Given the description of an element on the screen output the (x, y) to click on. 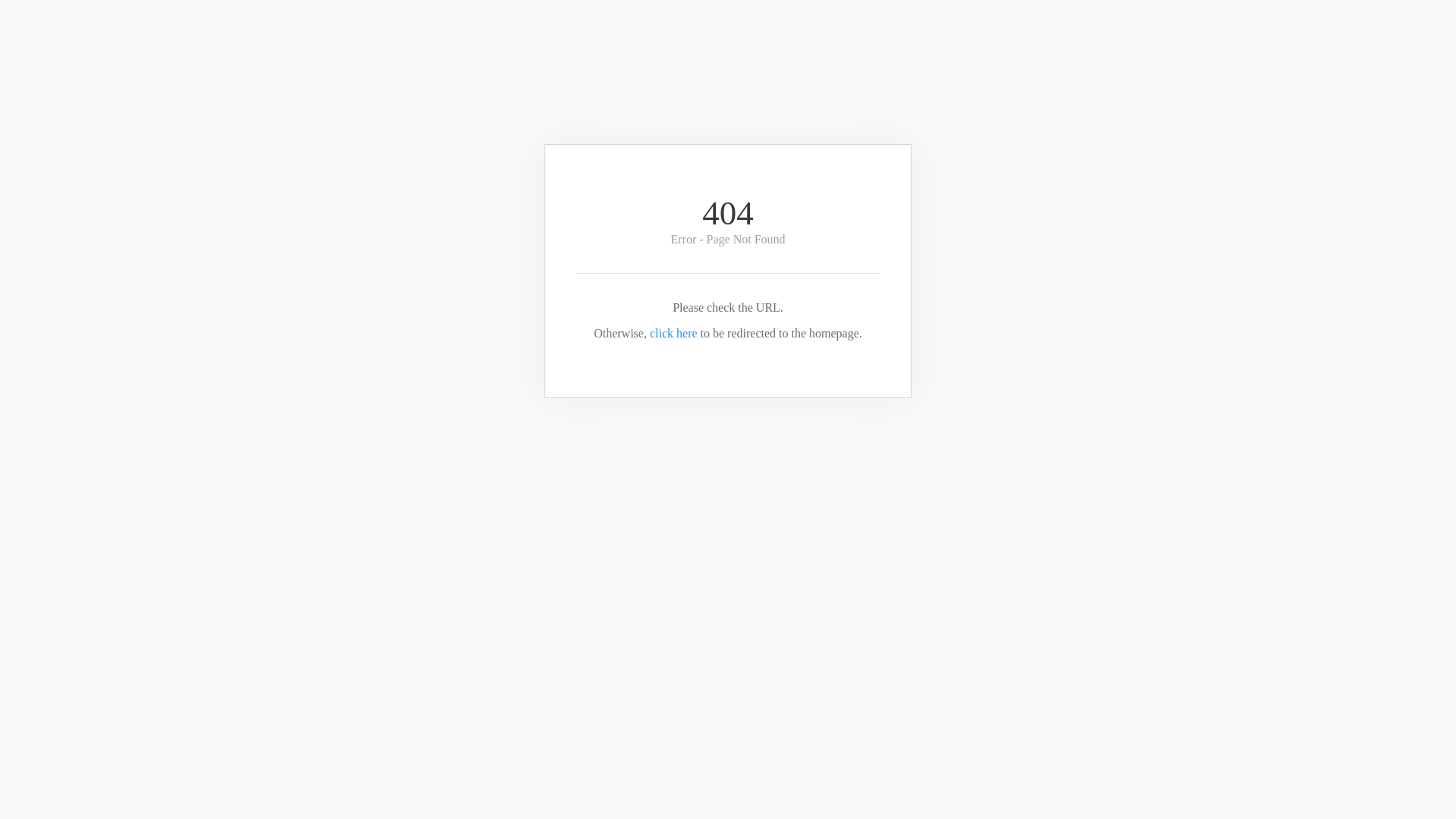
click here Element type: text (673, 332)
